Given the description of an element on the screen output the (x, y) to click on. 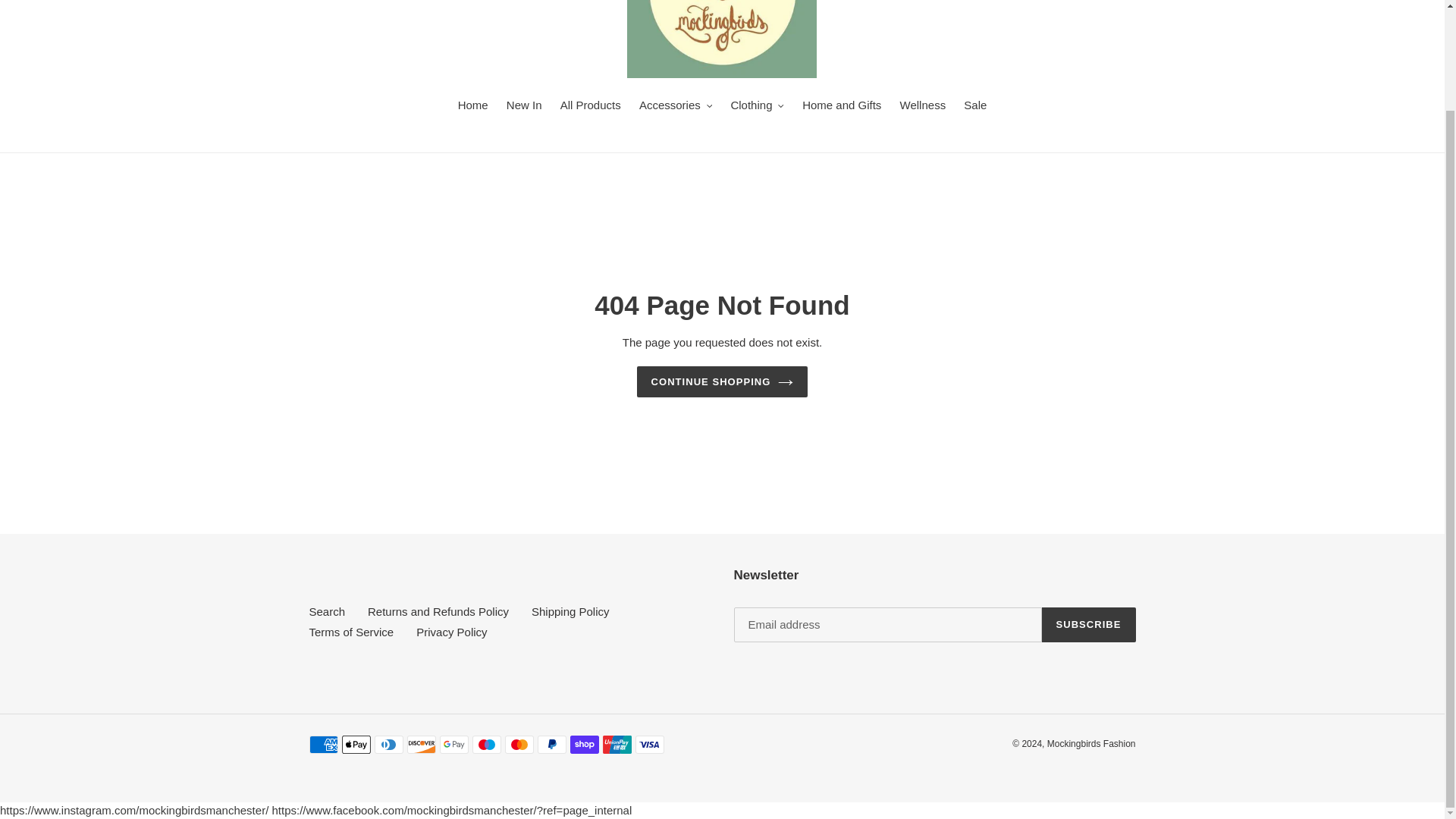
Search (1326, 0)
Cart (1387, 4)
Log in (1355, 4)
